Given the description of an element on the screen output the (x, y) to click on. 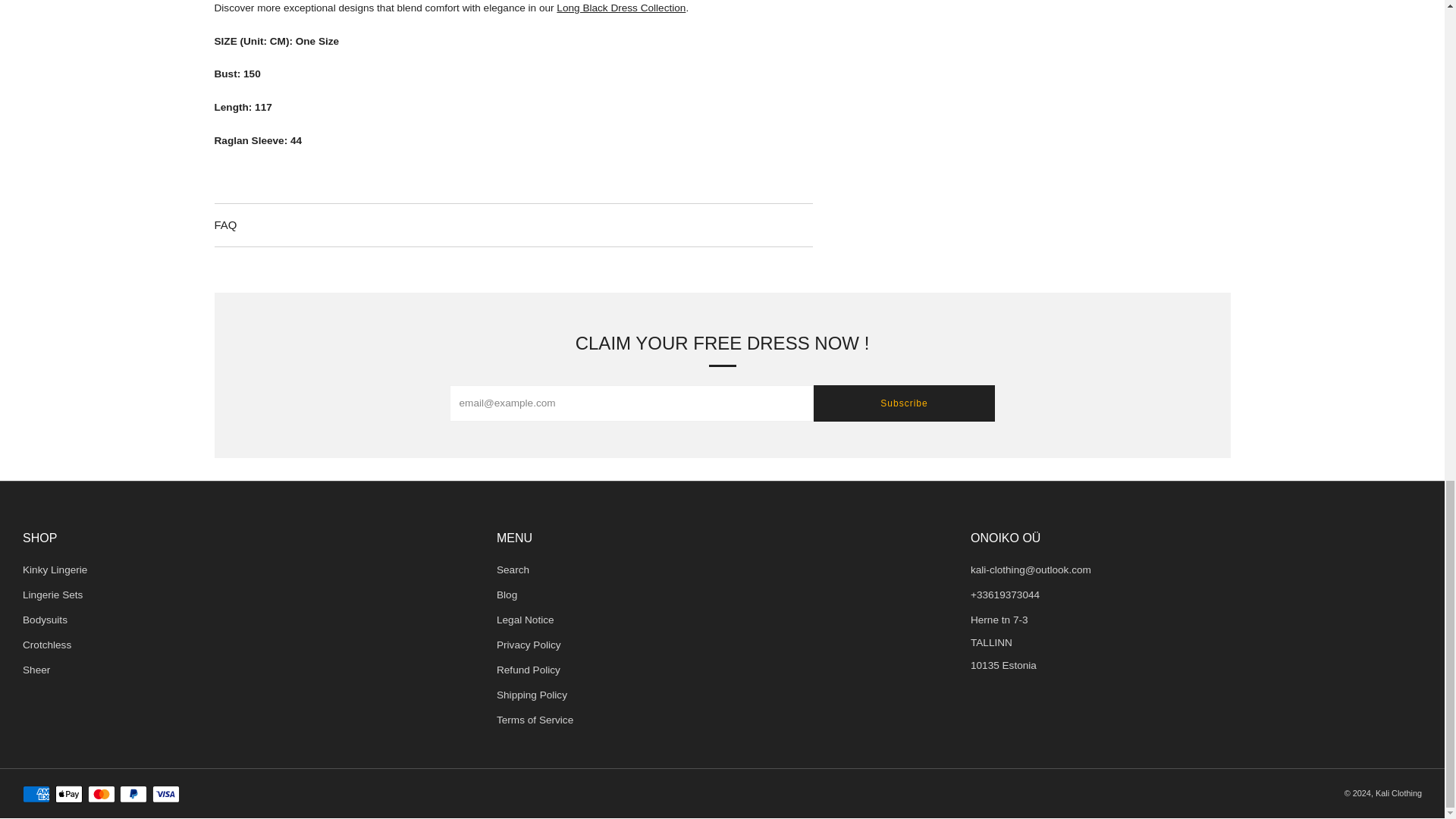
Long Black Dress Collection (620, 7)
Long Black Dress Collection (620, 7)
Subscribe (903, 402)
